Given the description of an element on the screen output the (x, y) to click on. 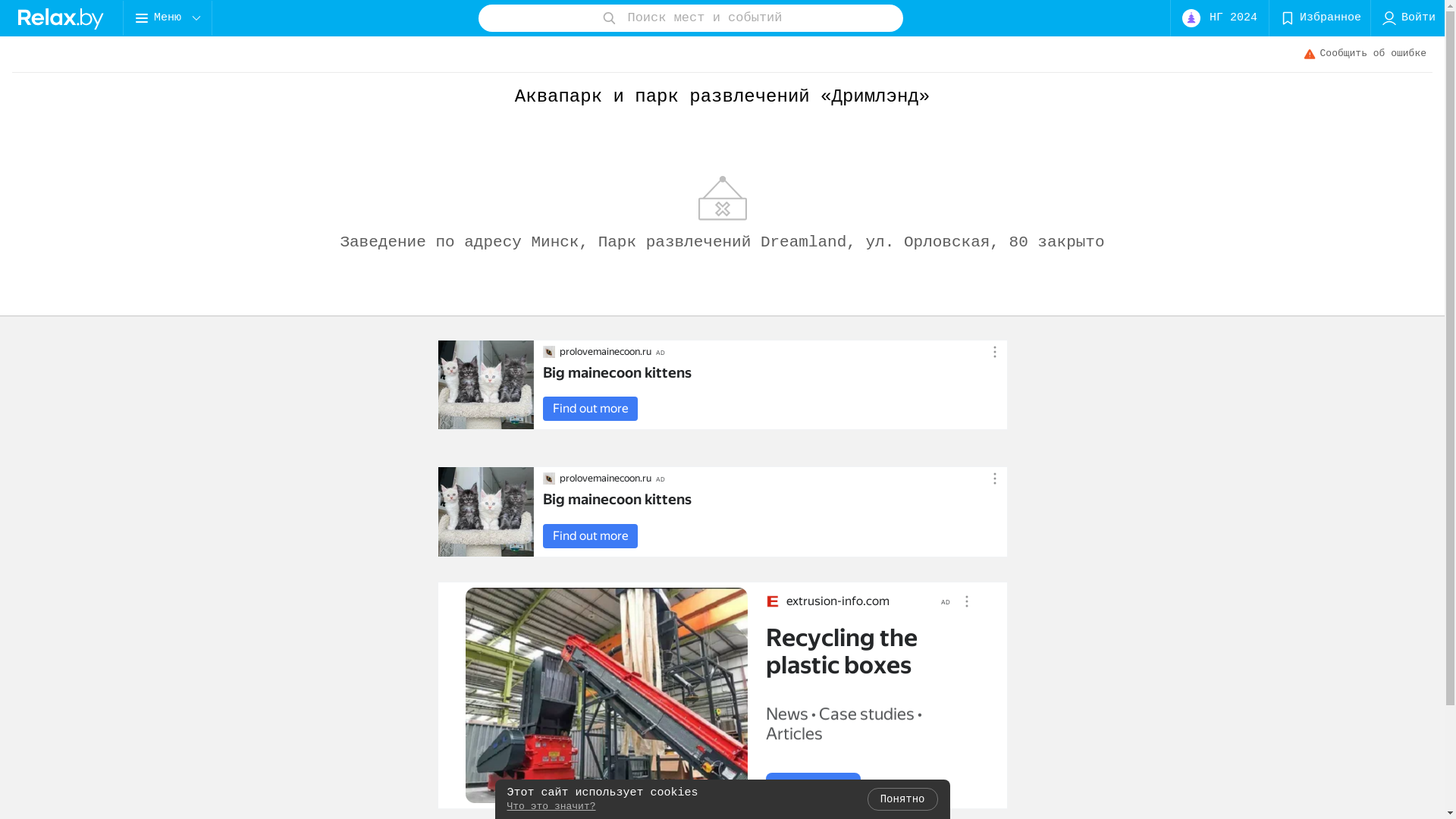
logo Element type: hover (61, 18)
